Given the description of an element on the screen output the (x, y) to click on. 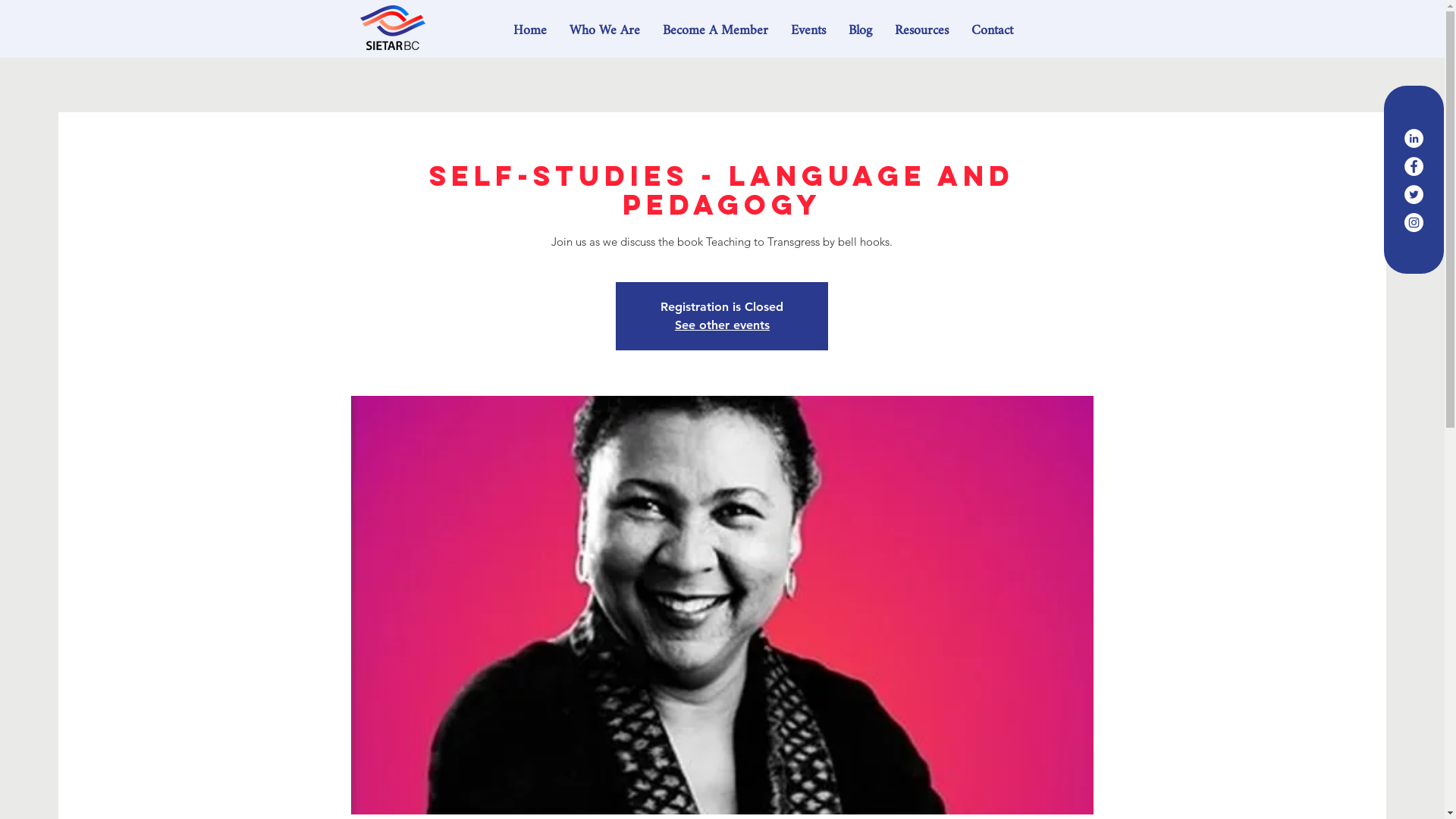
Blog Element type: text (860, 30)
Contact Element type: text (992, 30)
Events Element type: text (808, 30)
Who We Are Element type: text (604, 30)
See other events Element type: text (721, 324)
Resources Element type: text (921, 30)
Become A Member Element type: text (715, 30)
Home Element type: text (530, 30)
